Given the description of an element on the screen output the (x, y) to click on. 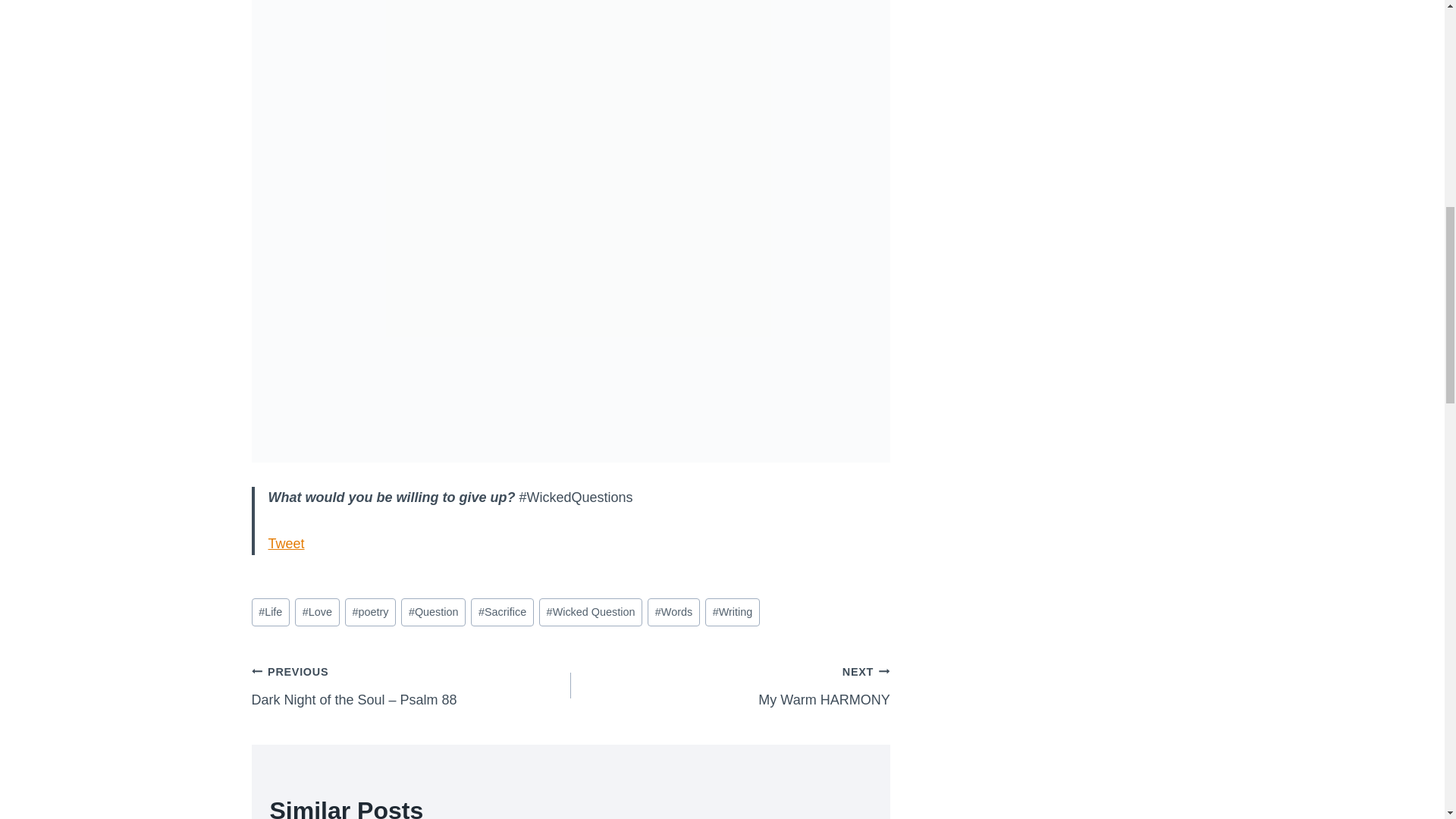
Life (270, 612)
Words (673, 612)
Sacrifice (501, 612)
Writing (729, 685)
Love (732, 612)
poetry (317, 612)
Wicked Question (370, 612)
Question (590, 612)
Tweet (433, 612)
